Given the description of an element on the screen output the (x, y) to click on. 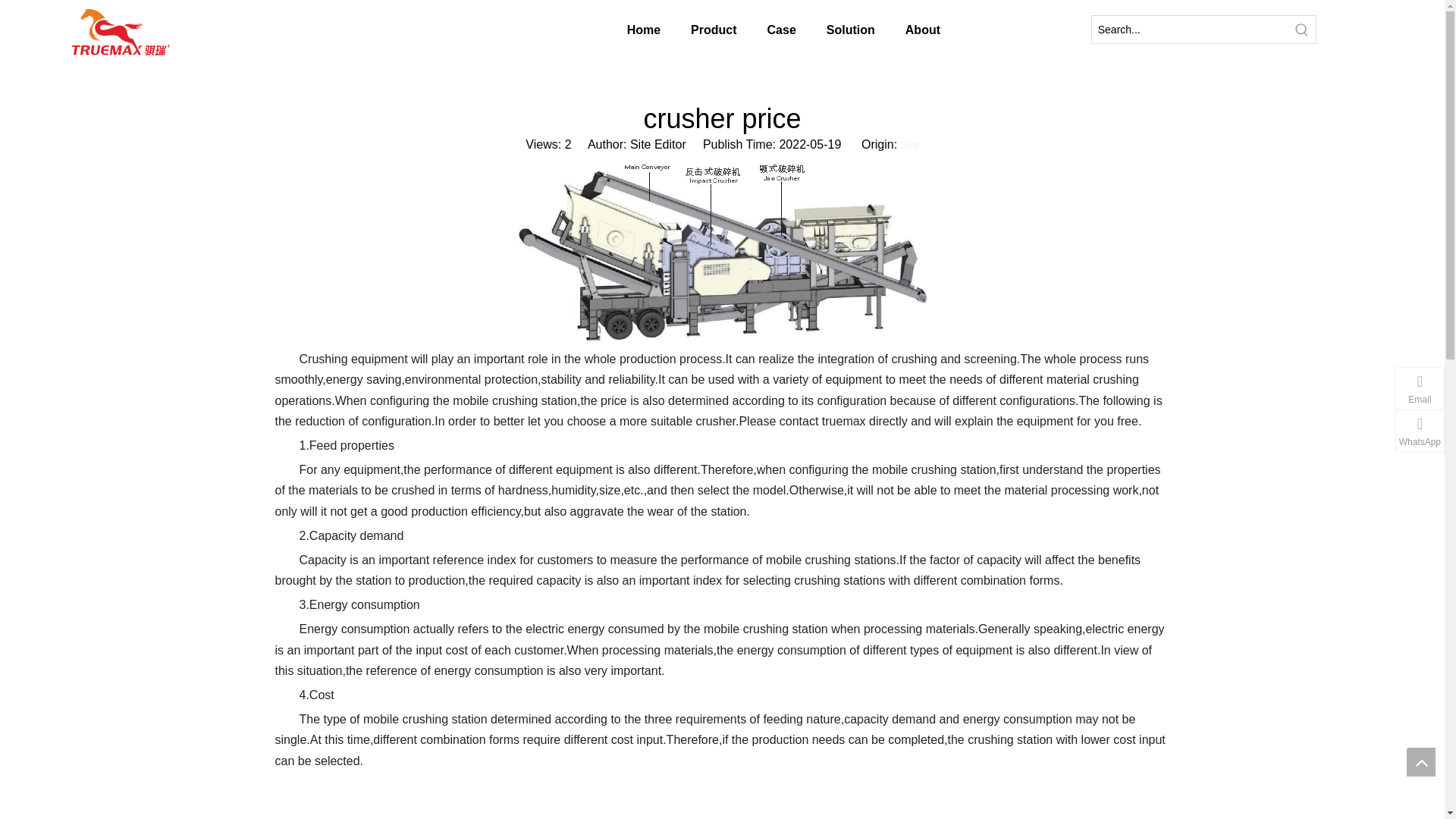
Case (781, 30)
About (922, 30)
Product (713, 30)
Home (643, 30)
Solution (849, 30)
